Given the description of an element on the screen output the (x, y) to click on. 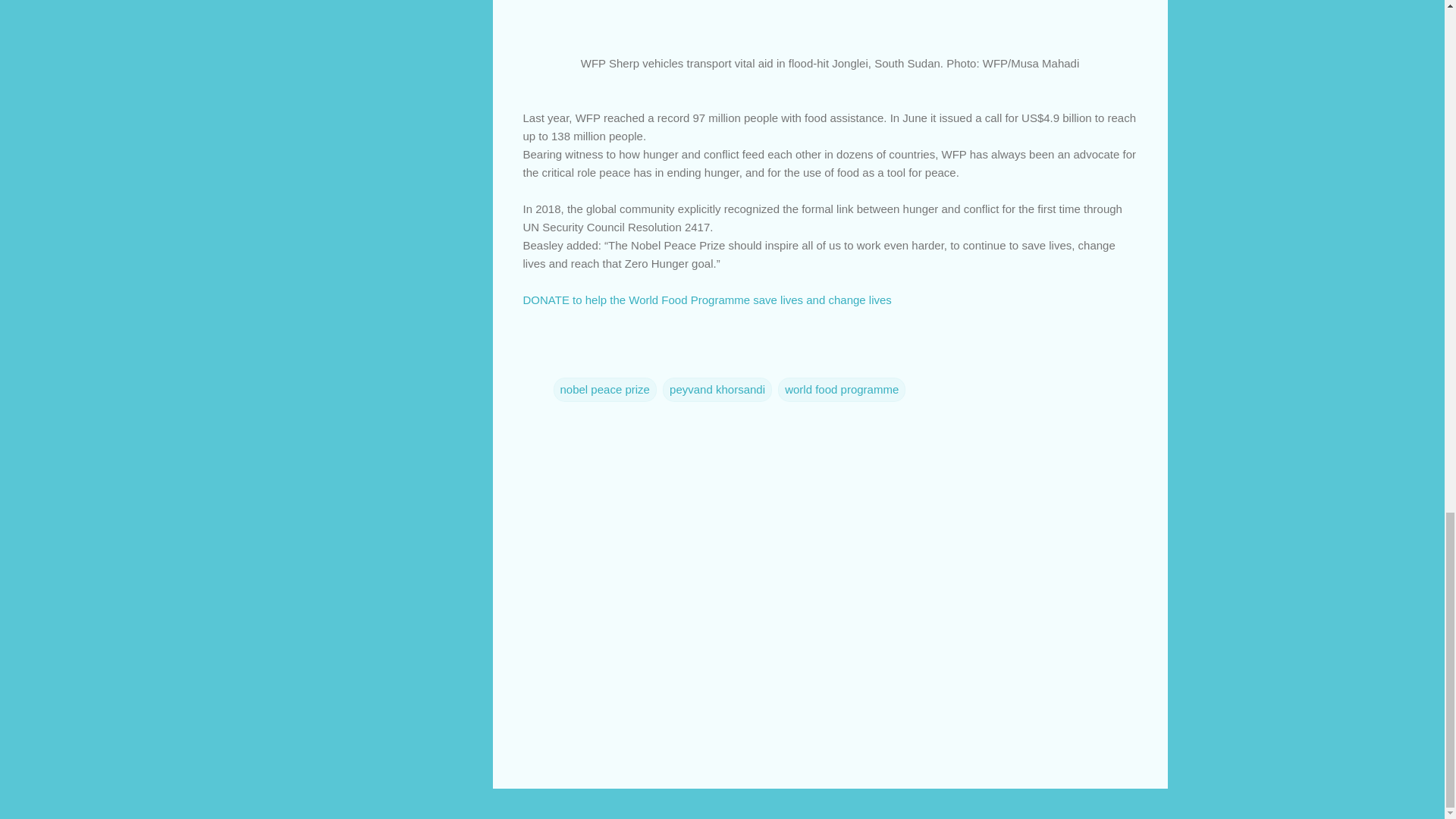
nobel peace prize (604, 388)
world food programme (841, 388)
peyvand khorsandi (716, 388)
